Given the description of an element on the screen output the (x, y) to click on. 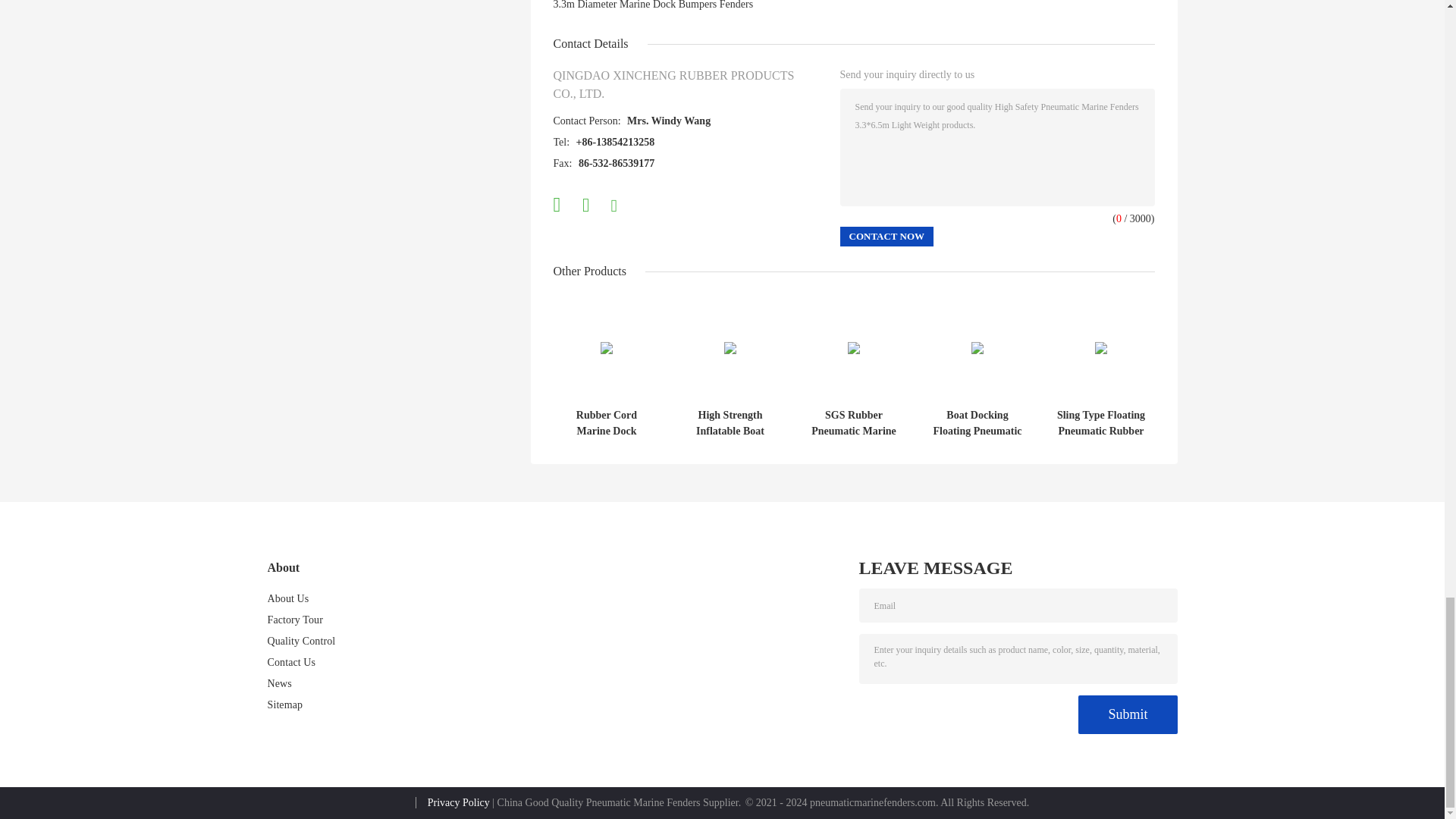
Contact Now (887, 236)
Submit (1127, 714)
